Given the description of an element on the screen output the (x, y) to click on. 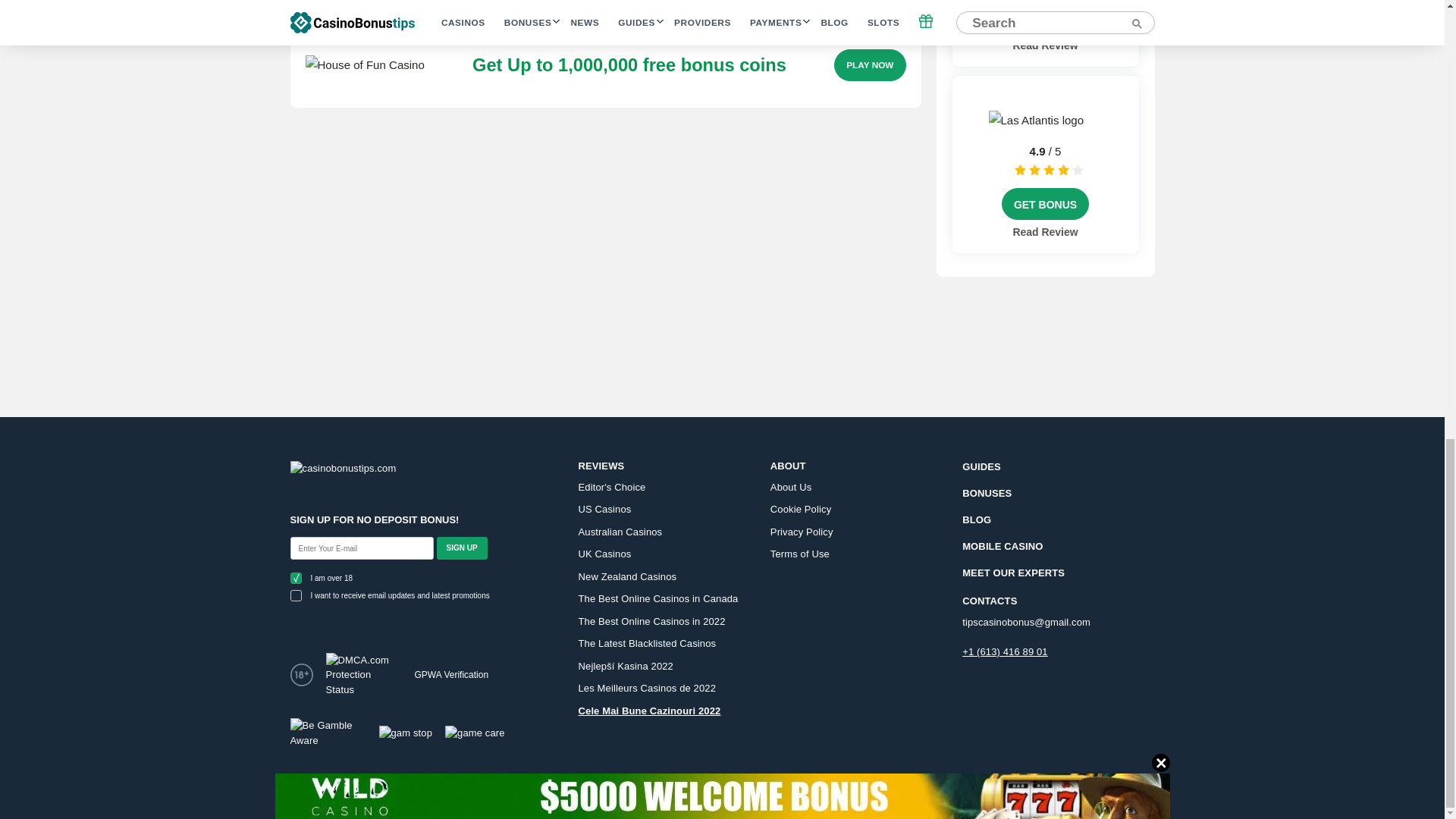
on (295, 577)
on (295, 595)
Be Gamble Aware (327, 732)
DMCA.com Protection Status (363, 674)
Gam stop (405, 733)
Game care (475, 733)
